Given the description of an element on the screen output the (x, y) to click on. 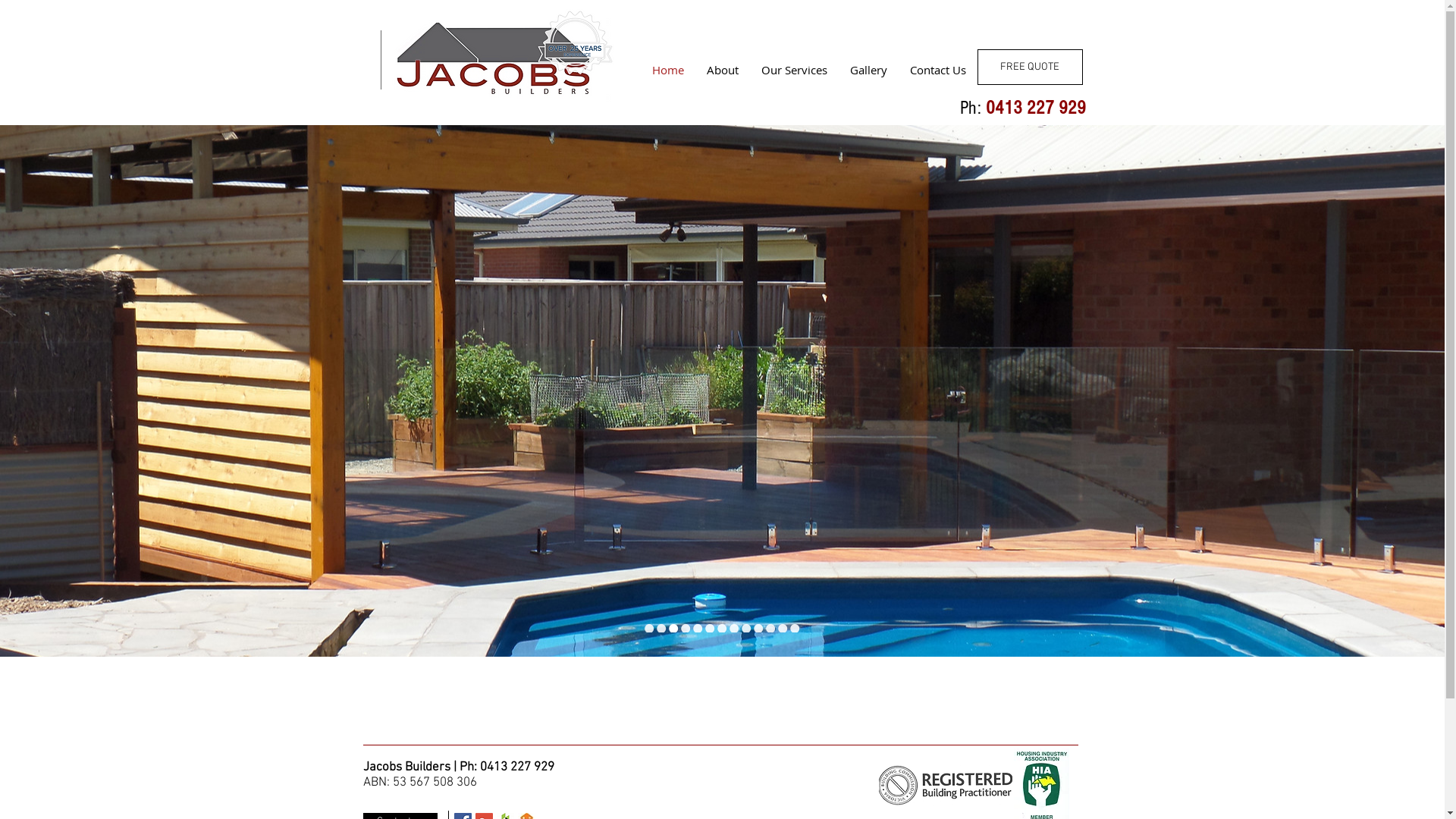
Our Services Element type: text (793, 69)
Embedded Content Element type: hover (749, 24)
Home Element type: text (667, 69)
Contact Us Element type: text (936, 69)
Gallery Element type: text (868, 69)
FREE QUOTE Element type: text (1029, 66)
About Element type: text (721, 69)
Embedded Content Element type: hover (641, 27)
